Given the description of an element on the screen output the (x, y) to click on. 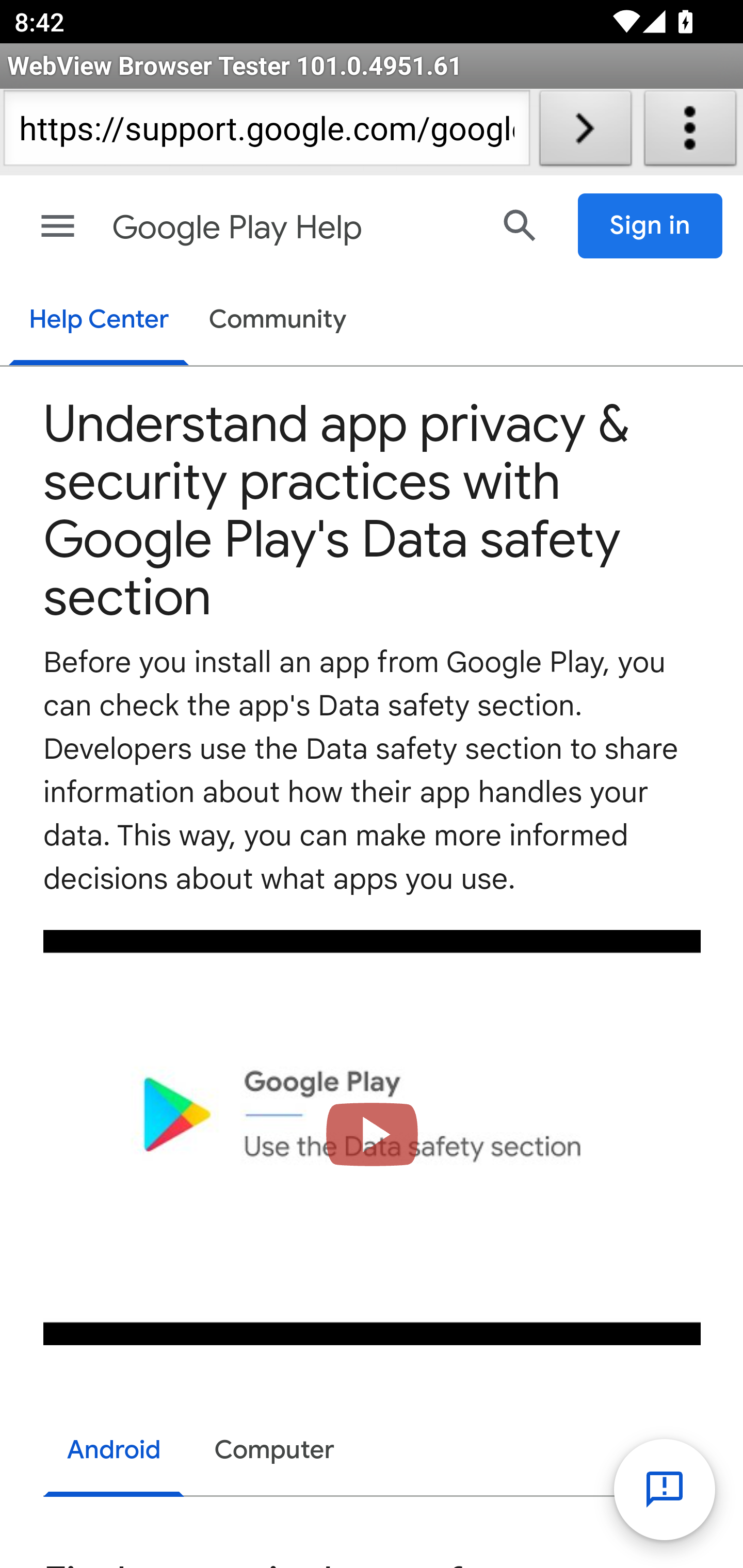
Load URL (585, 132)
About WebView (690, 132)
Main menu (58, 226)
Google Play Help (292, 227)
Search Help Center (519, 225)
Sign in (650, 226)
Help Center (98, 320)
Community (277, 320)
Load video (372, 1137)
Load video (372, 1137)
Android (114, 1452)
Computer (273, 1450)
